Given the description of an element on the screen output the (x, y) to click on. 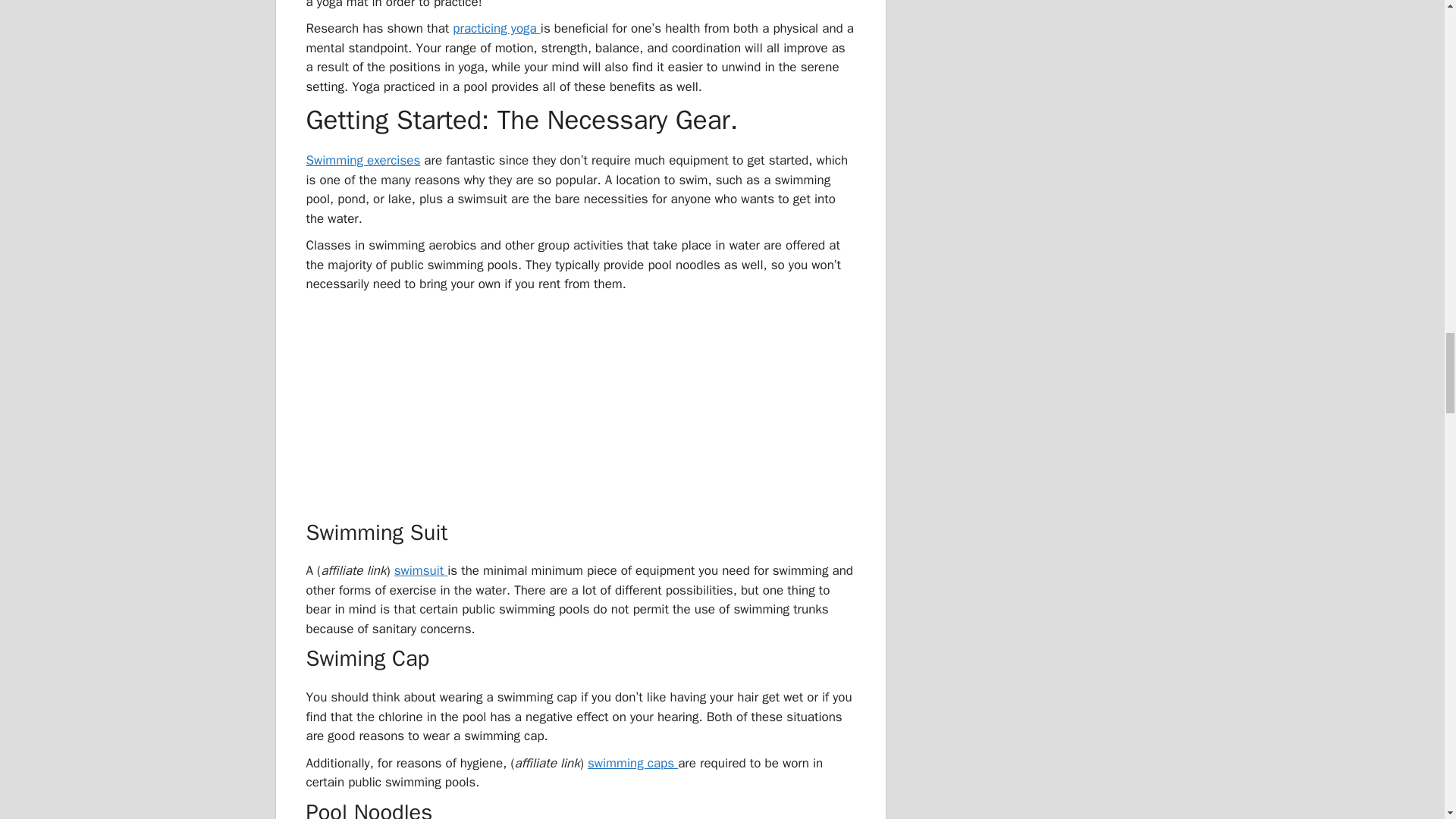
practicing yoga (496, 28)
swimsuit (421, 570)
Swimming exercises (362, 160)
swimming caps (633, 763)
